Given the description of an element on the screen output the (x, y) to click on. 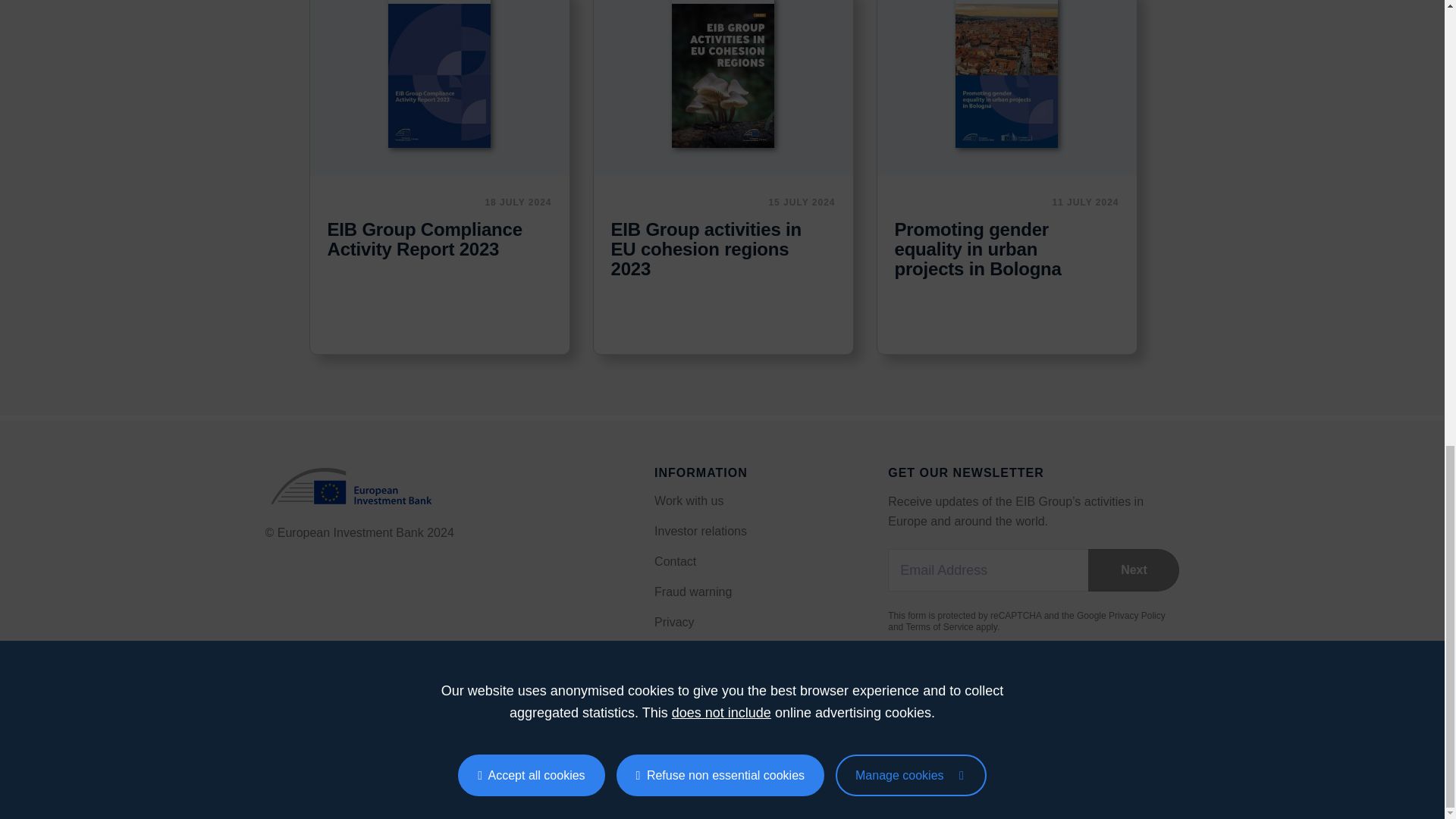
Facebook (301, 763)
Twitter (364, 763)
Linkedin (332, 763)
Youtube (394, 763)
Rss (271, 763)
